Given the description of an element on the screen output the (x, y) to click on. 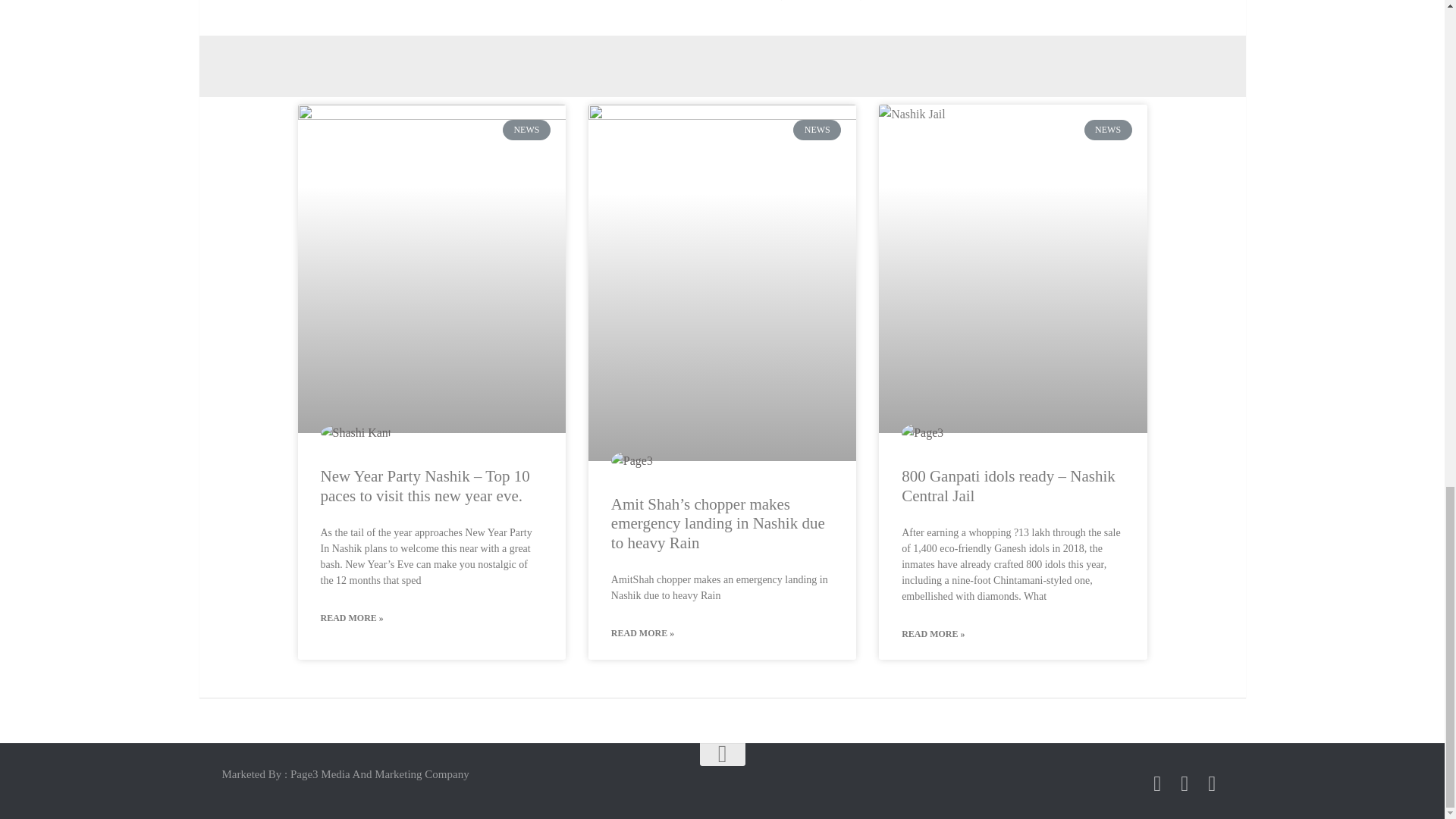
Follow us on Twitter (1184, 783)
Follow us on Youtube (1212, 783)
Follow us on Facebook (1157, 783)
